Given the description of an element on the screen output the (x, y) to click on. 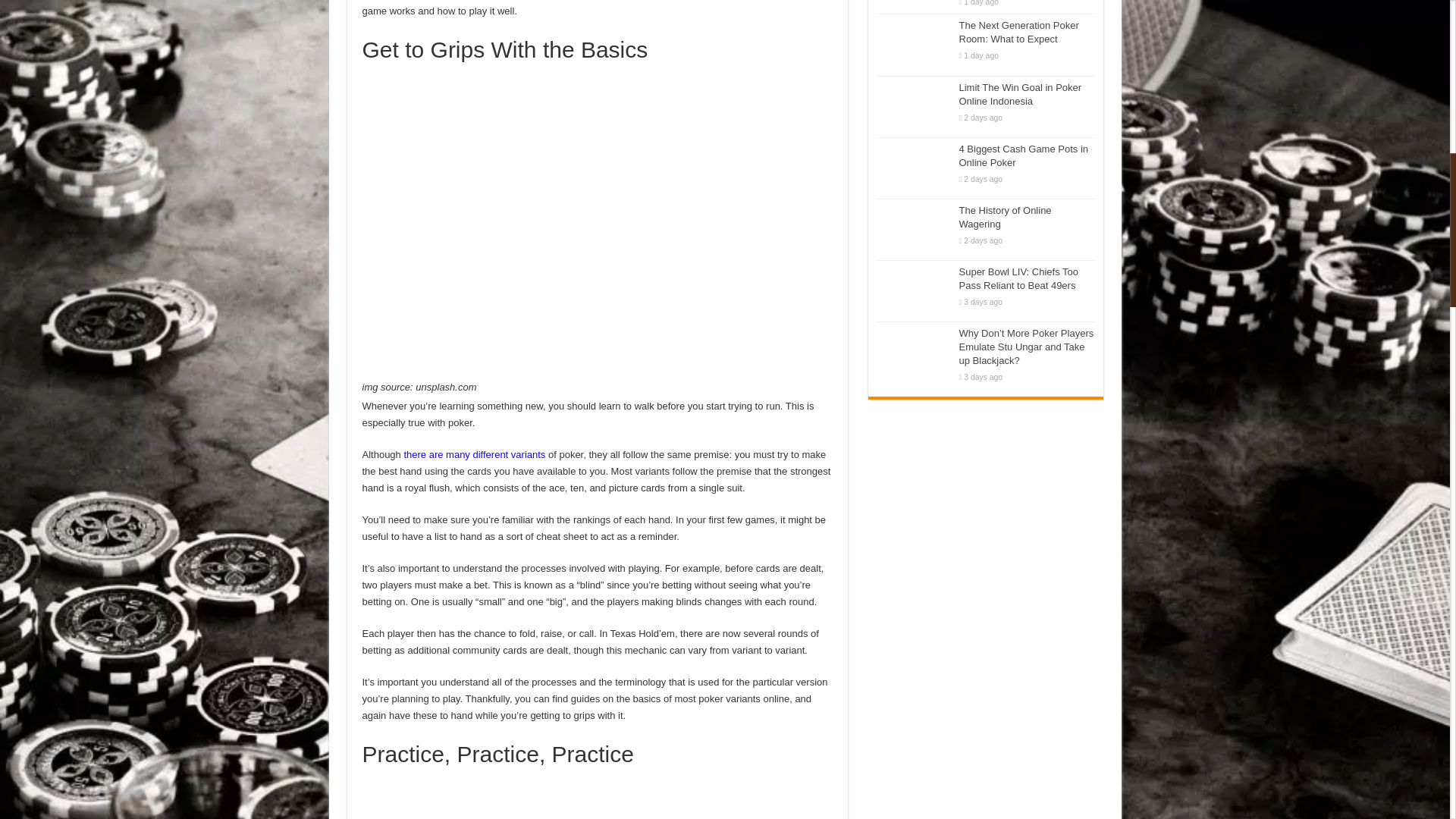
Scroll To Top (1427, 60)
there are many different variants (473, 454)
